Given the description of an element on the screen output the (x, y) to click on. 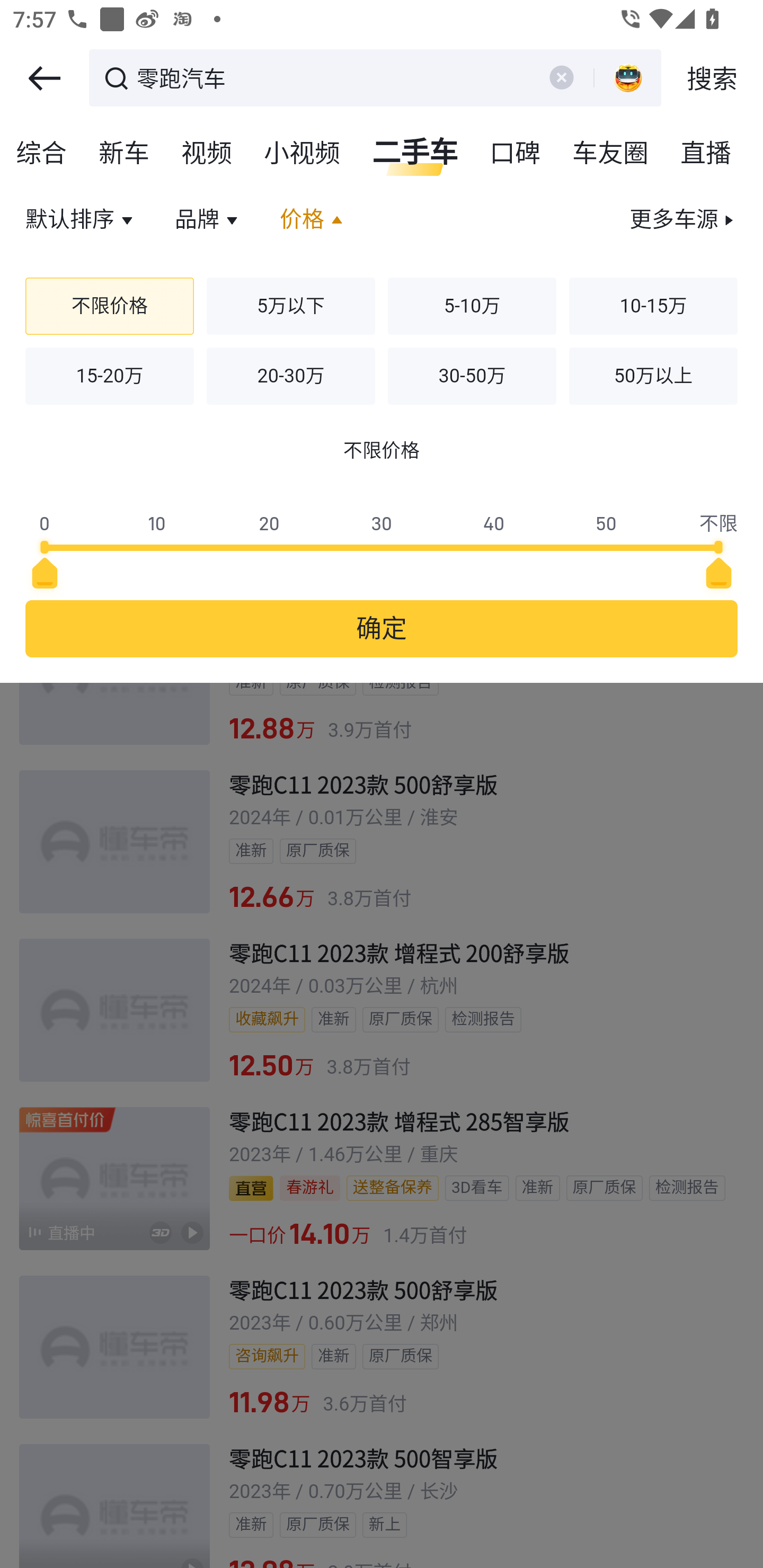
零跑汽车 (331, 76)
 (560, 77)
 (44, 78)
搜索 (711, 78)
综合 (41, 153)
新车 (124, 153)
视频 (207, 153)
小视频 (302, 153)
二手车 (415, 153)
口碑 (515, 153)
车友圈 (611, 153)
直播 (706, 153)
默认排序 (81, 220)
品牌 (208, 220)
价格 (313, 220)
更多车源 (682, 220)
